Given the description of an element on the screen output the (x, y) to click on. 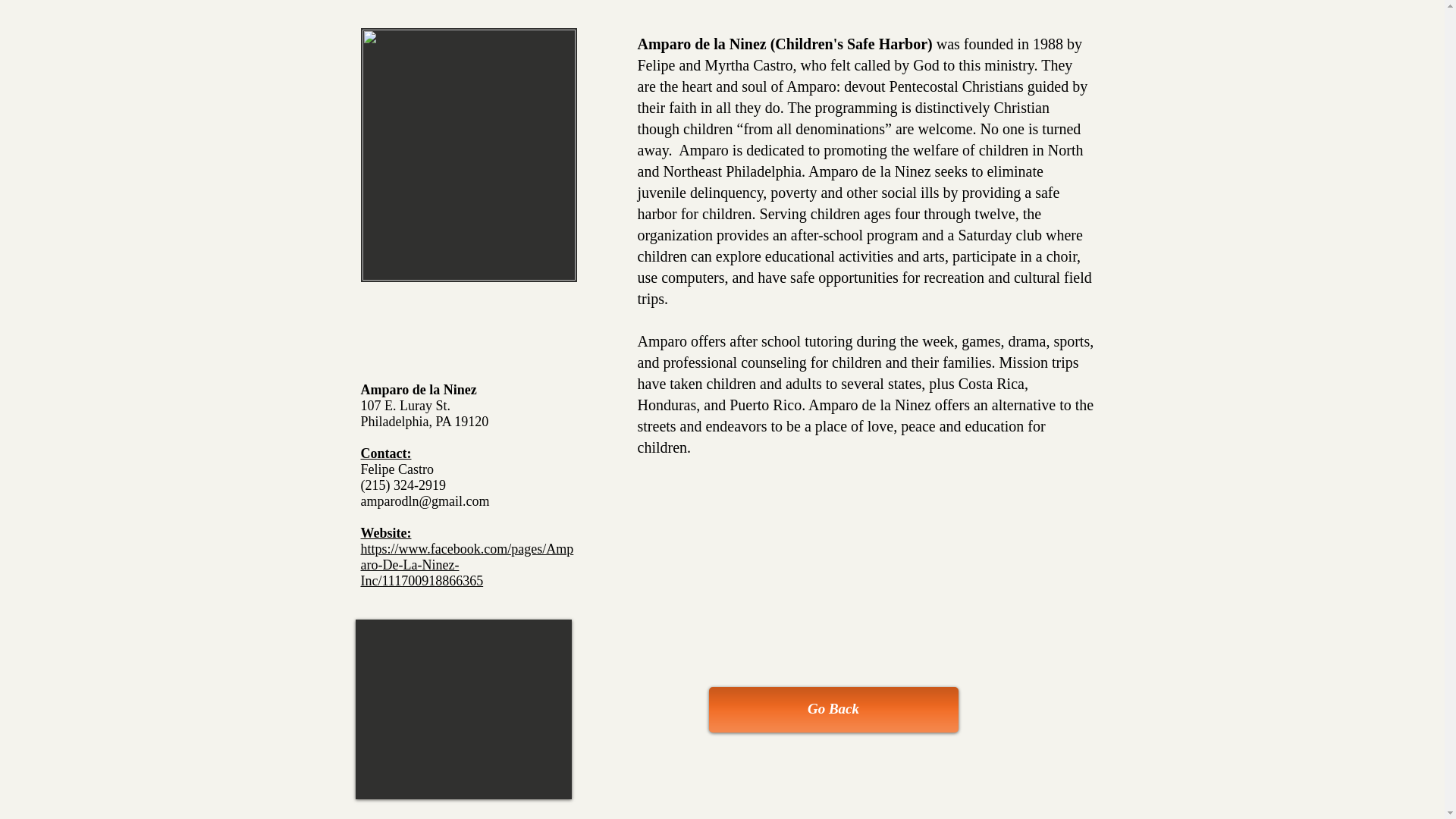
Amparo de le Ninez.jpg (468, 154)
